Given the description of an element on the screen output the (x, y) to click on. 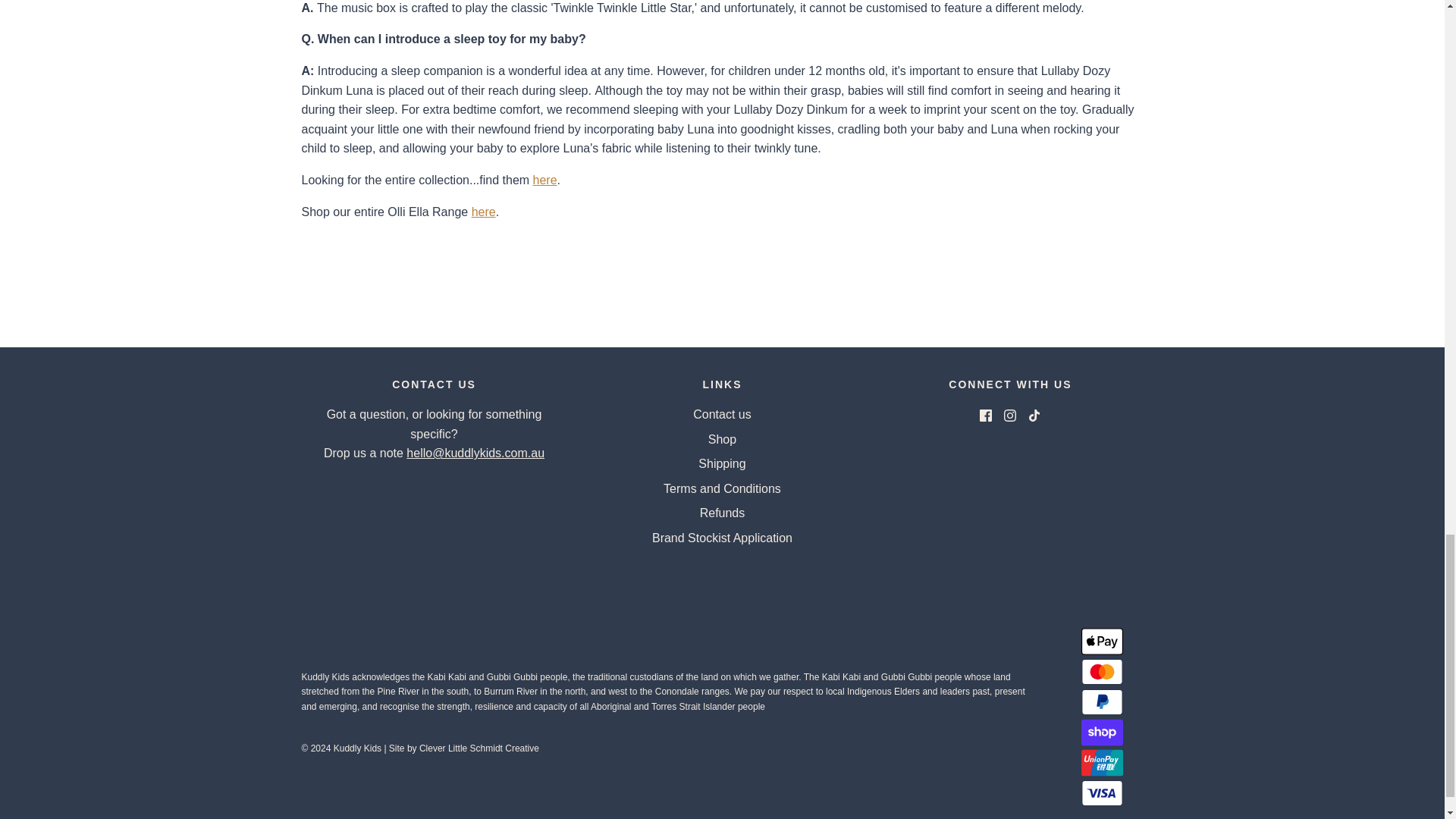
Union Pay (1101, 762)
Apple Pay (1101, 641)
Email us (475, 452)
TikTok icon (1034, 415)
Visa (1101, 793)
Mastercard (1101, 671)
Instagram icon (1010, 415)
PayPal (1101, 702)
Facebook icon (985, 415)
Shop Pay (1101, 732)
